Given the description of an element on the screen output the (x, y) to click on. 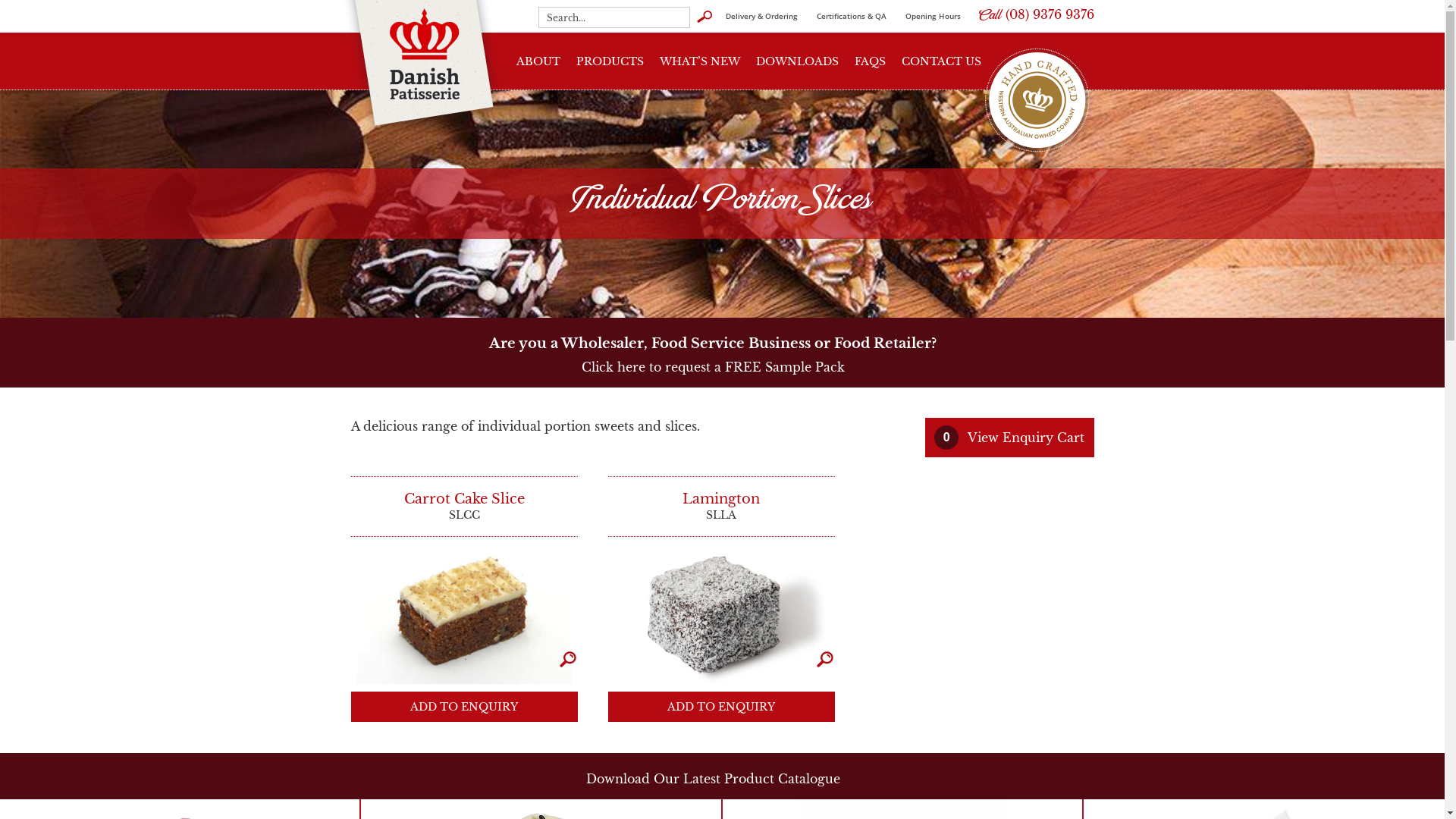
ADD TO ENQUIRY Element type: text (721, 706)
PRODUCTS Element type: text (609, 61)
CONTACT US Element type: text (941, 61)
FAQS Element type: text (869, 61)
ABOUT Element type: text (538, 61)
Delivery & Ordering Element type: text (760, 15)
Download Our Latest Product Catalogue Element type: text (712, 778)
Click here to request a FREE Sample Pack Element type: text (712, 366)
DOWNLOADS Element type: text (797, 61)
0 View Enquiry Cart Element type: text (1009, 437)
Certifications & QA Element type: text (850, 15)
Search Element type: text (703, 16)
Opening Hours Element type: text (932, 15)
ADD TO ENQUIRY Element type: text (463, 706)
Call (08) 9376 9376 Element type: text (1036, 13)
